Given the description of an element on the screen output the (x, y) to click on. 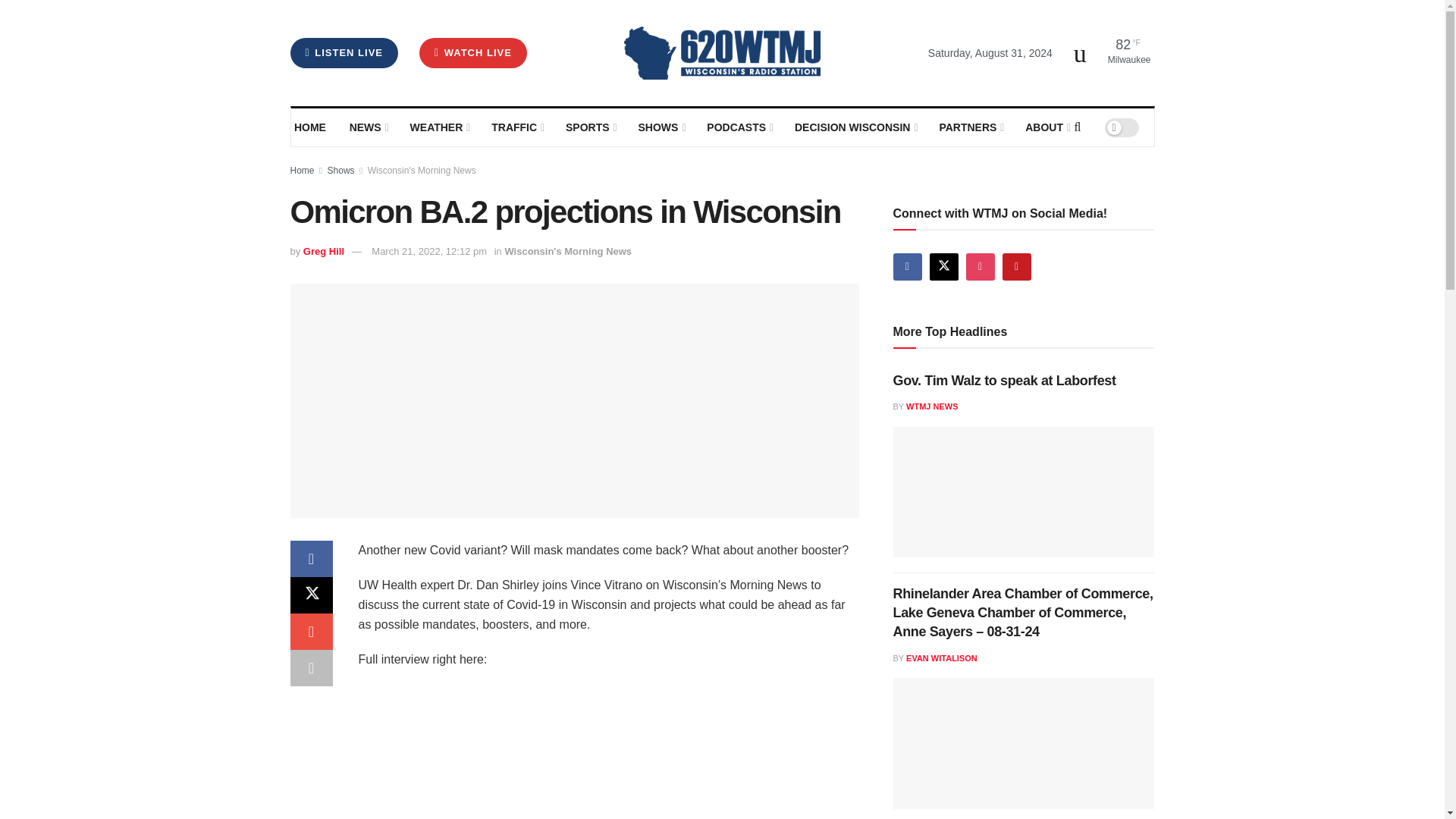
TRAFFIC (516, 127)
NEWS (368, 127)
HOME (310, 127)
WATCH LIVE (473, 52)
LISTEN LIVE (343, 52)
WEATHER (438, 127)
